Given the description of an element on the screen output the (x, y) to click on. 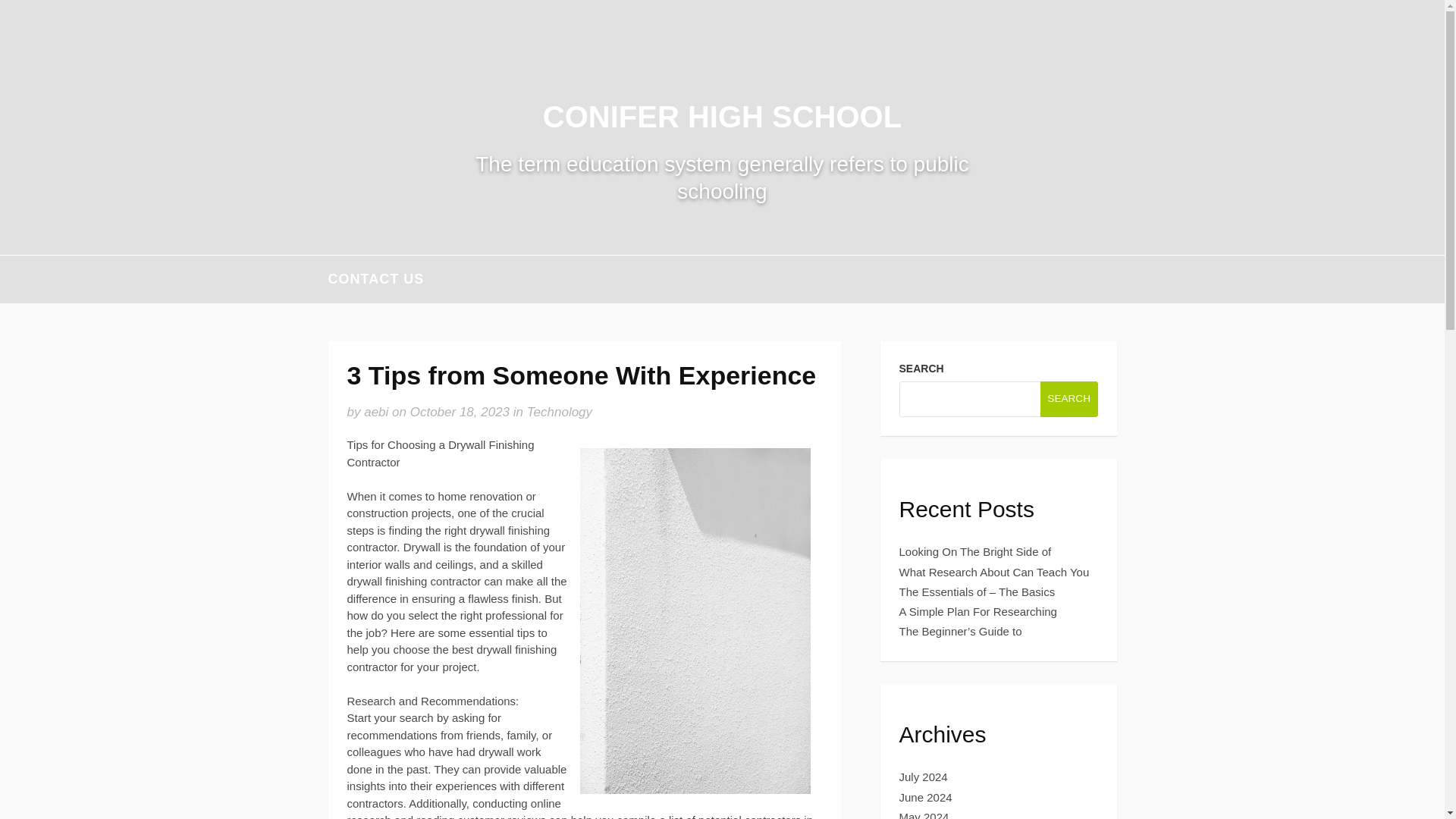
Looking On The Bright Side of (975, 551)
CONIFER HIGH SCHOOL (722, 116)
CONTACT US (375, 279)
Technology (559, 411)
SEARCH (1069, 398)
June 2024 (925, 797)
July 2024 (923, 776)
A Simple Plan For Researching (978, 611)
October 18, 2023 (459, 411)
May 2024 (924, 814)
What Research About Can Teach You (994, 571)
aebi (376, 411)
